Given the description of an element on the screen output the (x, y) to click on. 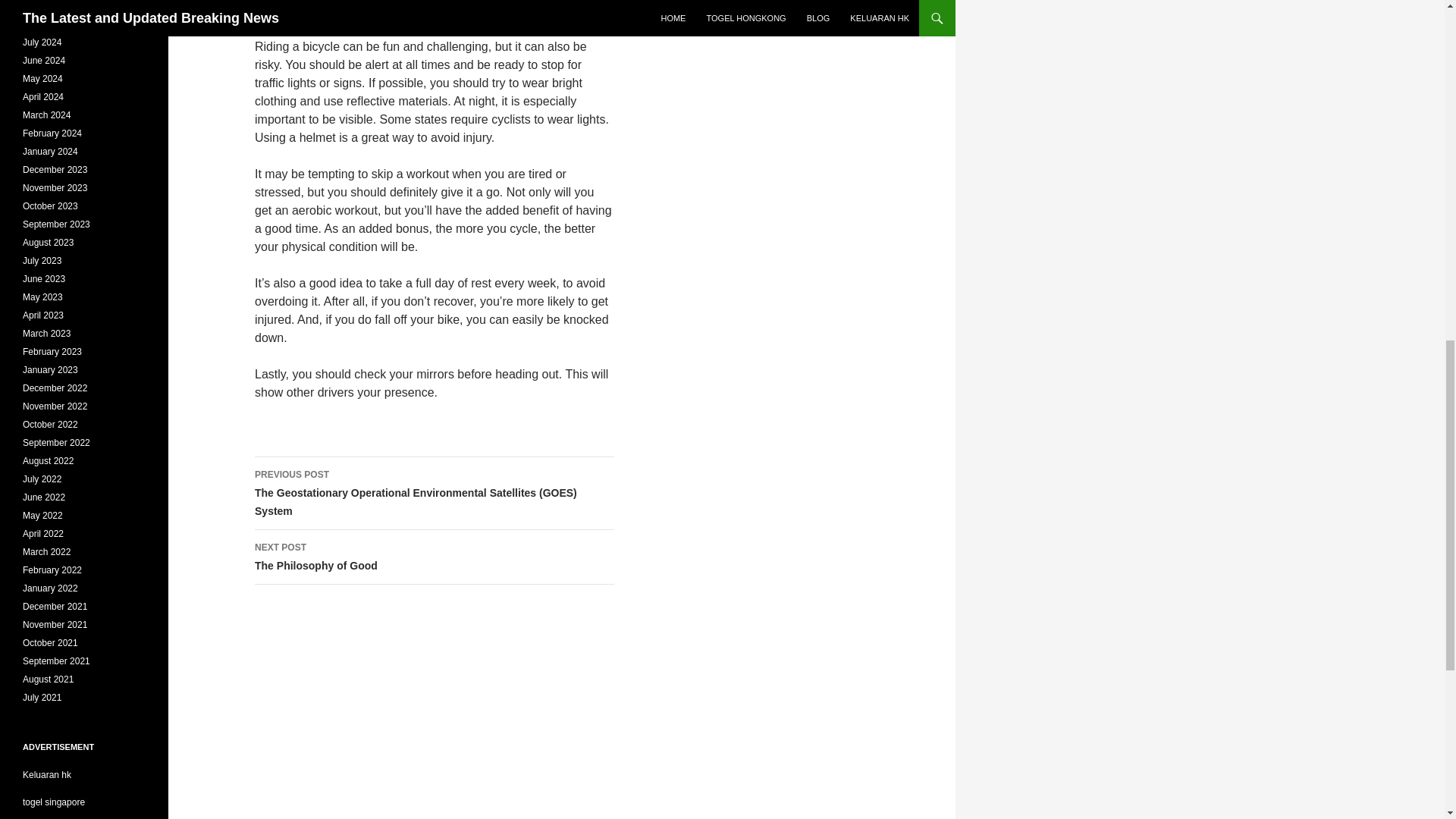
December 2023 (55, 169)
October 2023 (50, 205)
November 2023 (55, 187)
June 2024 (44, 60)
August 2024 (434, 556)
July 2023 (48, 23)
March 2024 (42, 260)
September 2023 (46, 114)
January 2024 (56, 224)
